Given the description of an element on the screen output the (x, y) to click on. 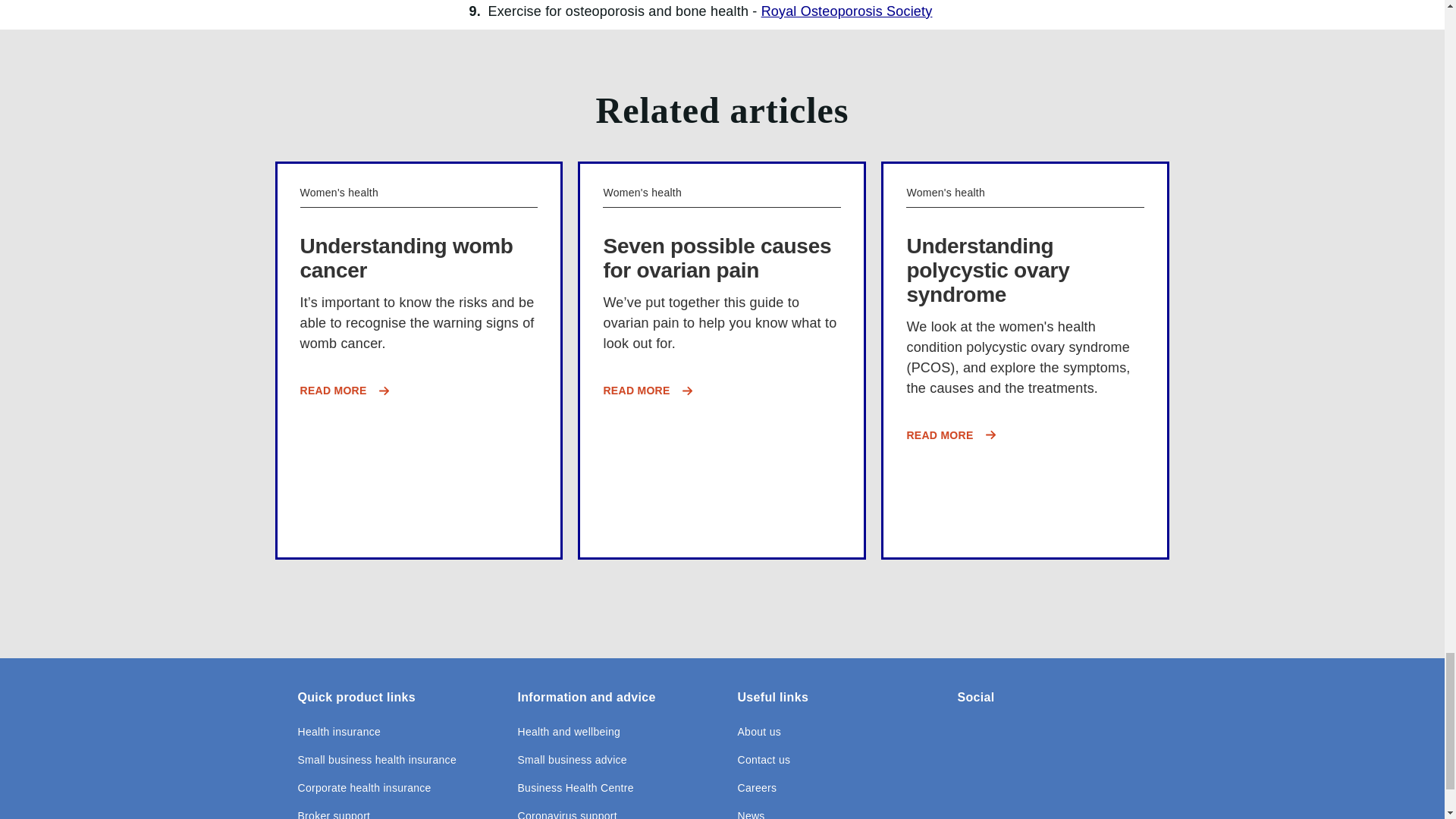
Royal Osteoporosis Society (847, 11)
READ MORE (418, 390)
Corporate health insurance (363, 788)
Royal Osteoporosis Society (847, 11)
READ MORE (721, 390)
Small business health insurance (376, 759)
Health insurance (338, 731)
